Given the description of an element on the screen output the (x, y) to click on. 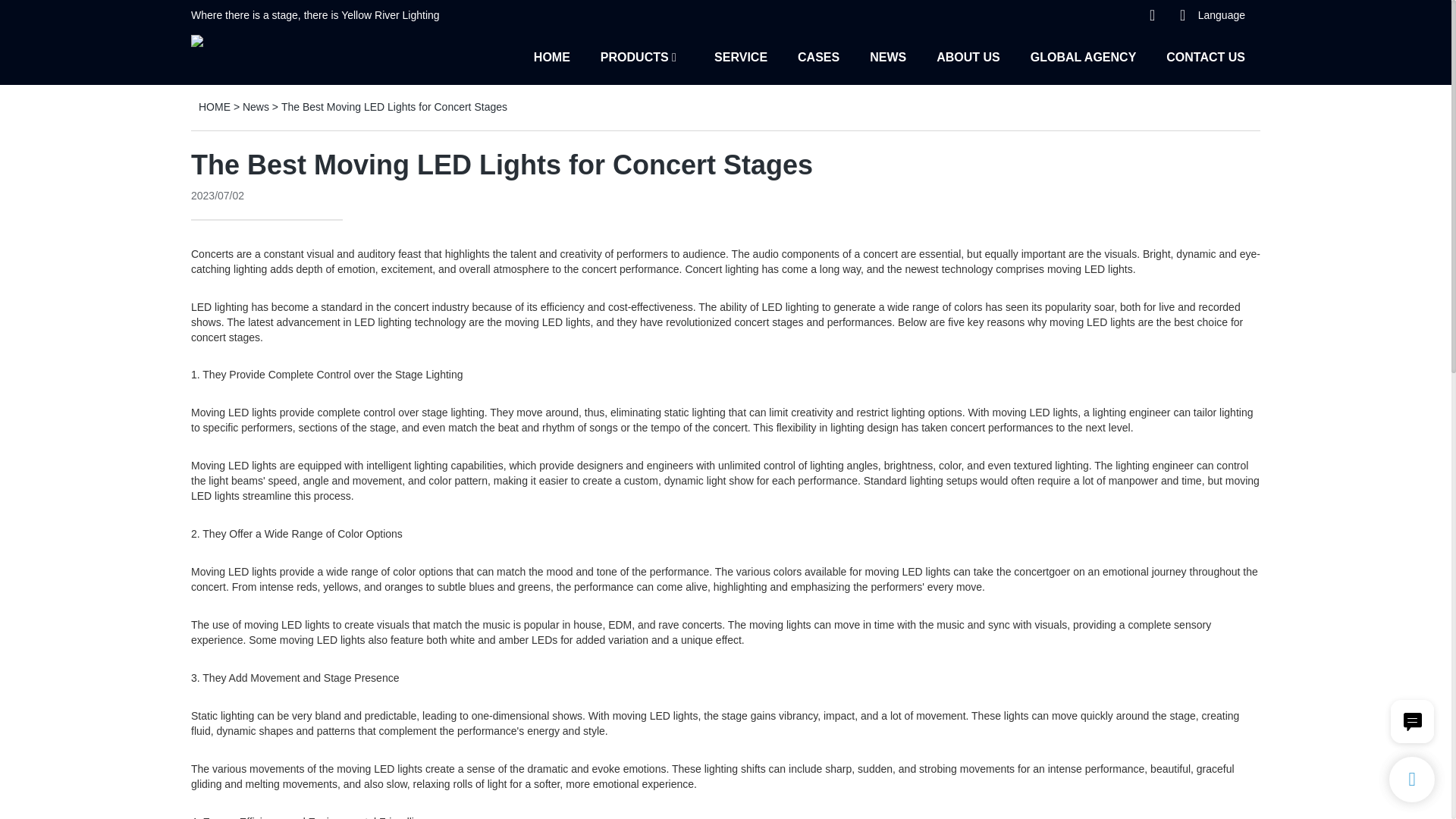
CASES (818, 56)
NEWS (887, 56)
News (256, 106)
ABOUT US (968, 56)
SERVICE (740, 56)
HOME (552, 56)
CONTACT US (1205, 56)
PRODUCTS (633, 56)
HOME (214, 106)
The Best Moving LED Lights for Concert Stages (393, 106)
GLOBAL AGENCY (1083, 56)
